Given the description of an element on the screen output the (x, y) to click on. 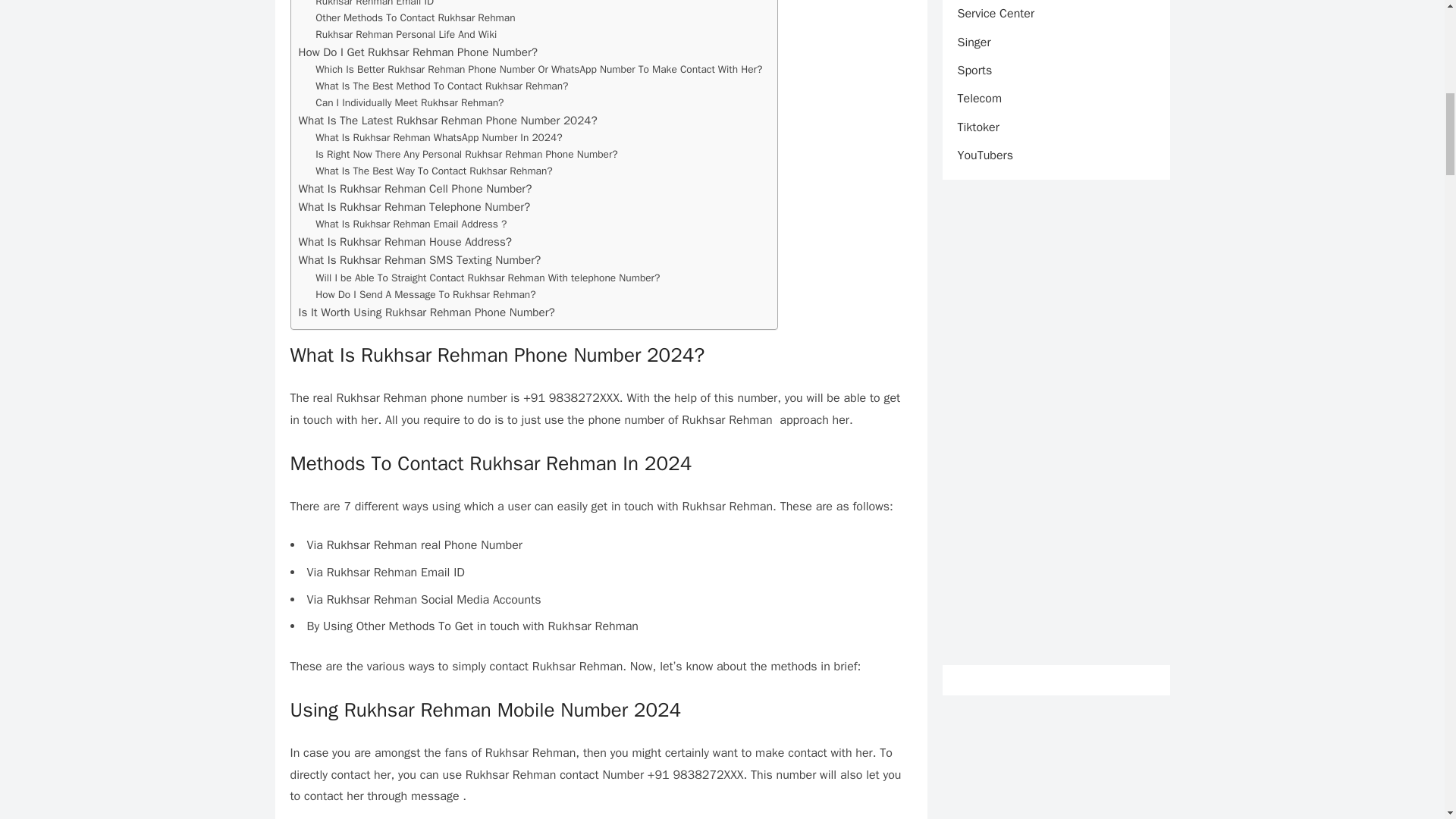
Other Methods  To Contact Rukhsar Rehman (415, 17)
Can I Individually Meet Rukhsar Rehman? (409, 103)
Rukhsar Rehman Personal Life And Wiki (405, 34)
Rukhsar Rehman Email  ID (374, 4)
What Is Rukhsar Rehman Cell Phone Number? (415, 188)
What Is Rukhsar Rehman WhatsApp Number In 2024? (438, 137)
What Is The Best Way To Contact Rukhsar Rehman? (433, 170)
What Is The Best Method To Contact Rukhsar Rehman? (441, 86)
Rukhsar Rehman Personal Life And Wiki (405, 34)
What Is The Latest Rukhsar Rehman Phone Number 2024? (447, 120)
Is Right Now There Any Personal Rukhsar Rehman Phone Number? (466, 154)
Rukhsar Rehman Email ID (374, 4)
Other Methods To Contact Rukhsar Rehman (415, 17)
